Given the description of an element on the screen output the (x, y) to click on. 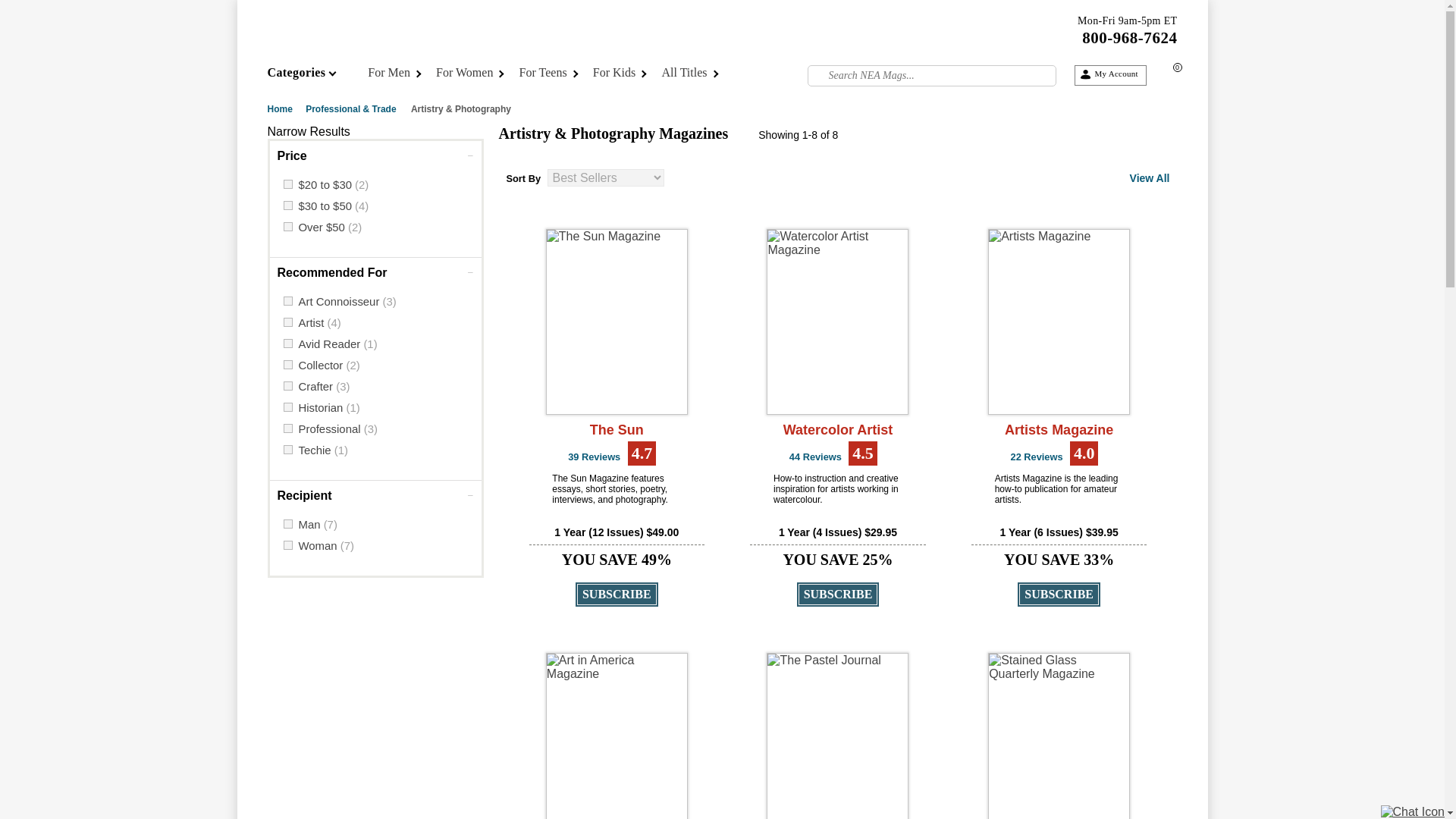
The Pastel Journal (837, 735)
Categories (312, 75)
Artists Magazine (1058, 321)
Stained Glass Quarterly (1058, 735)
800-968-7624 (1128, 37)
Subscribe (837, 594)
Subscribe (616, 594)
NEA Magazine Service (394, 43)
Art in America (616, 735)
The Sun (616, 321)
Subscribe (1059, 594)
Watercolor Artist (837, 321)
